Given the description of an element on the screen output the (x, y) to click on. 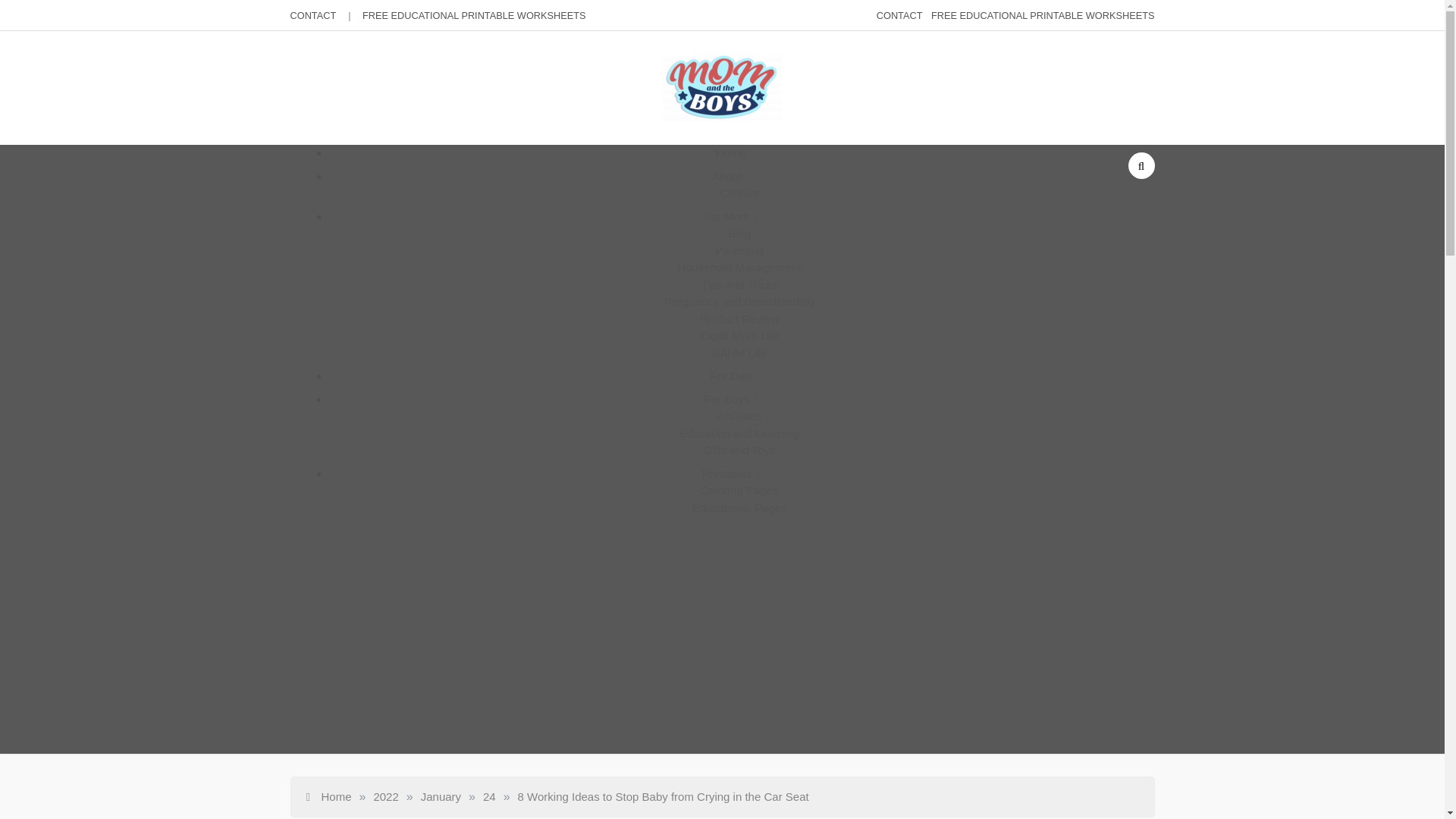
For Boys (730, 399)
Contact (738, 192)
Pregnancy and Breastfeeding (738, 300)
For Dad (730, 375)
Home (328, 796)
Educational Pages (738, 507)
Printables (730, 472)
Education and Learning (739, 432)
Product Review (738, 318)
Home (730, 152)
